Given the description of an element on the screen output the (x, y) to click on. 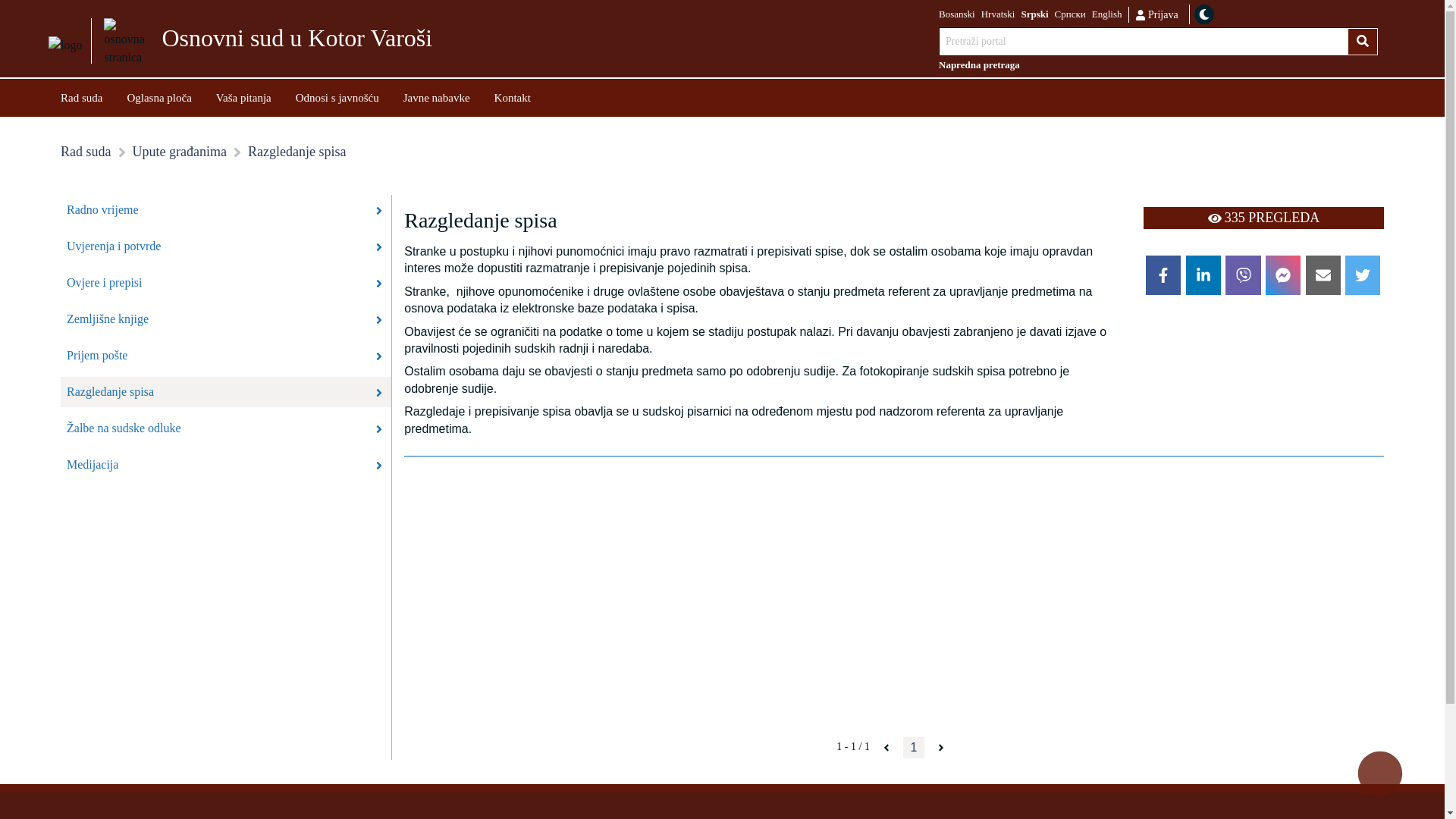
Uvjerenja i potvrde Element type: text (225, 246)
Prijava Element type: text (1155, 13)
Radno vrijeme Element type: text (225, 209)
Ovjere i prepisi Element type: text (225, 282)
Kontakt Element type: text (512, 97)
Napredna pretraga Element type: text (1157, 65)
Javne nabavke Element type: text (436, 97)
Rad suda Element type: text (81, 97)
Rad suda Element type: text (85, 151)
Medijacija Element type: text (225, 464)
Razgledanje spisa Element type: text (225, 391)
